Given the description of an element on the screen output the (x, y) to click on. 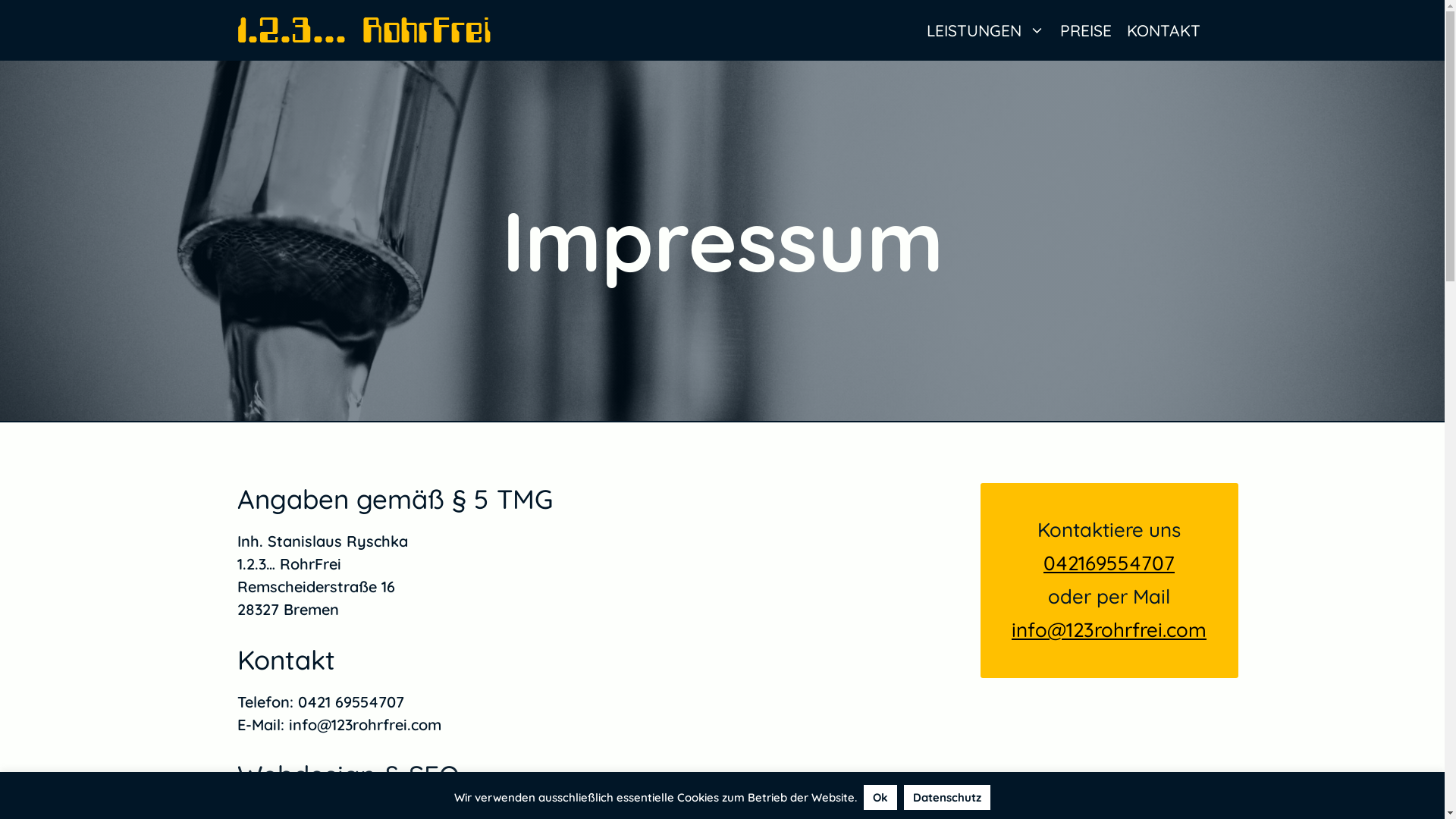
Ok Element type: text (880, 796)
KONTAKT Element type: text (1163, 30)
LEISTUNGEN Element type: text (985, 30)
042169554707 Element type: text (1108, 562)
Datenschutz Element type: text (946, 796)
PREISE Element type: text (1085, 30)
info@123rohrfrei.com Element type: text (1108, 629)
